Given the description of an element on the screen output the (x, y) to click on. 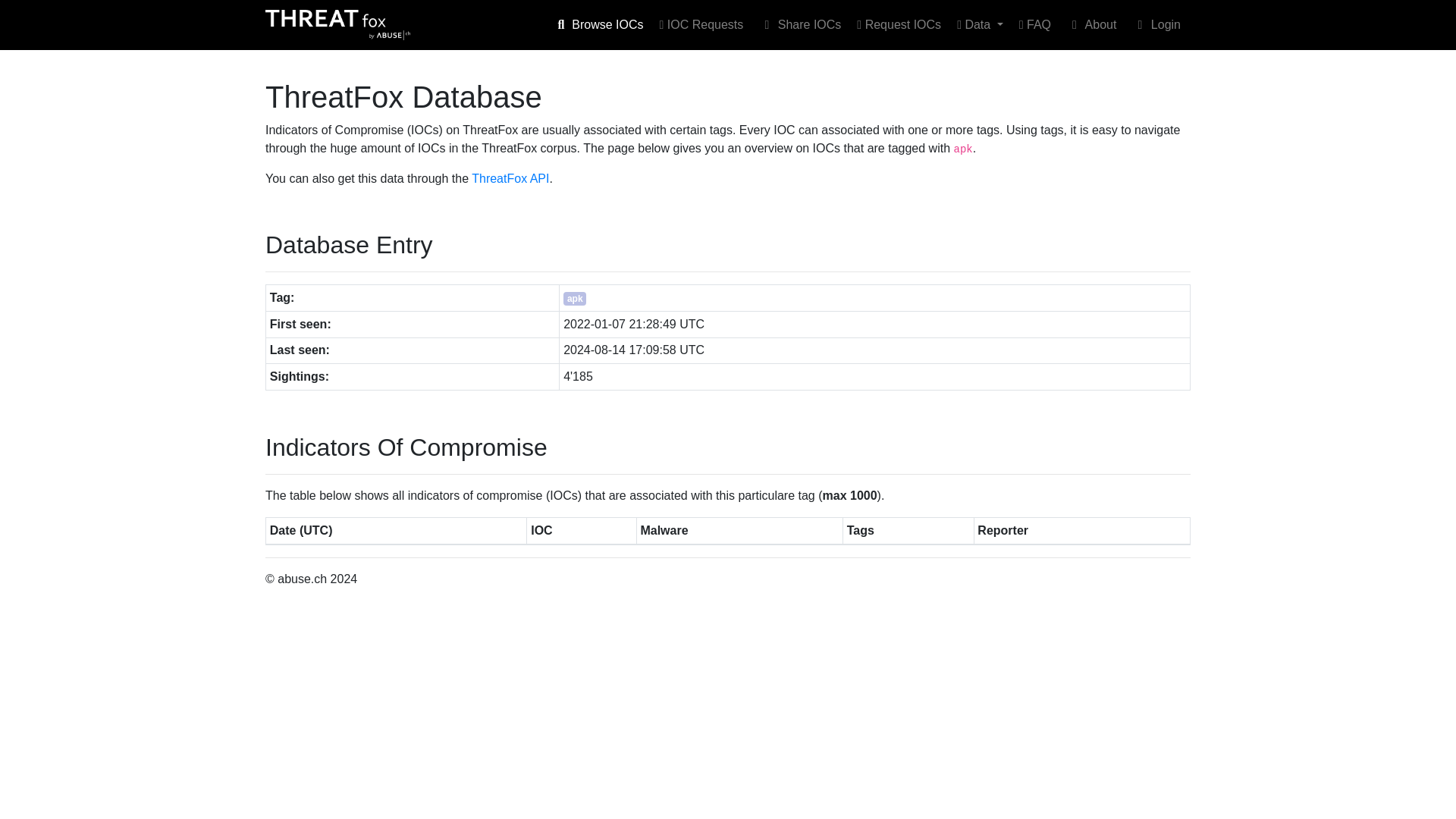
ThreatFox API (509, 178)
Share your IOCs on ThreatFox (799, 24)
Browse ThreatFox IOCs (701, 24)
Login (1155, 24)
apk (574, 297)
FAQ (1035, 24)
Data (979, 24)
Browse ThreatFox IOCs (598, 24)
Show IOCs associated with this tag (574, 297)
Share IOCs (799, 24)
